Given the description of an element on the screen output the (x, y) to click on. 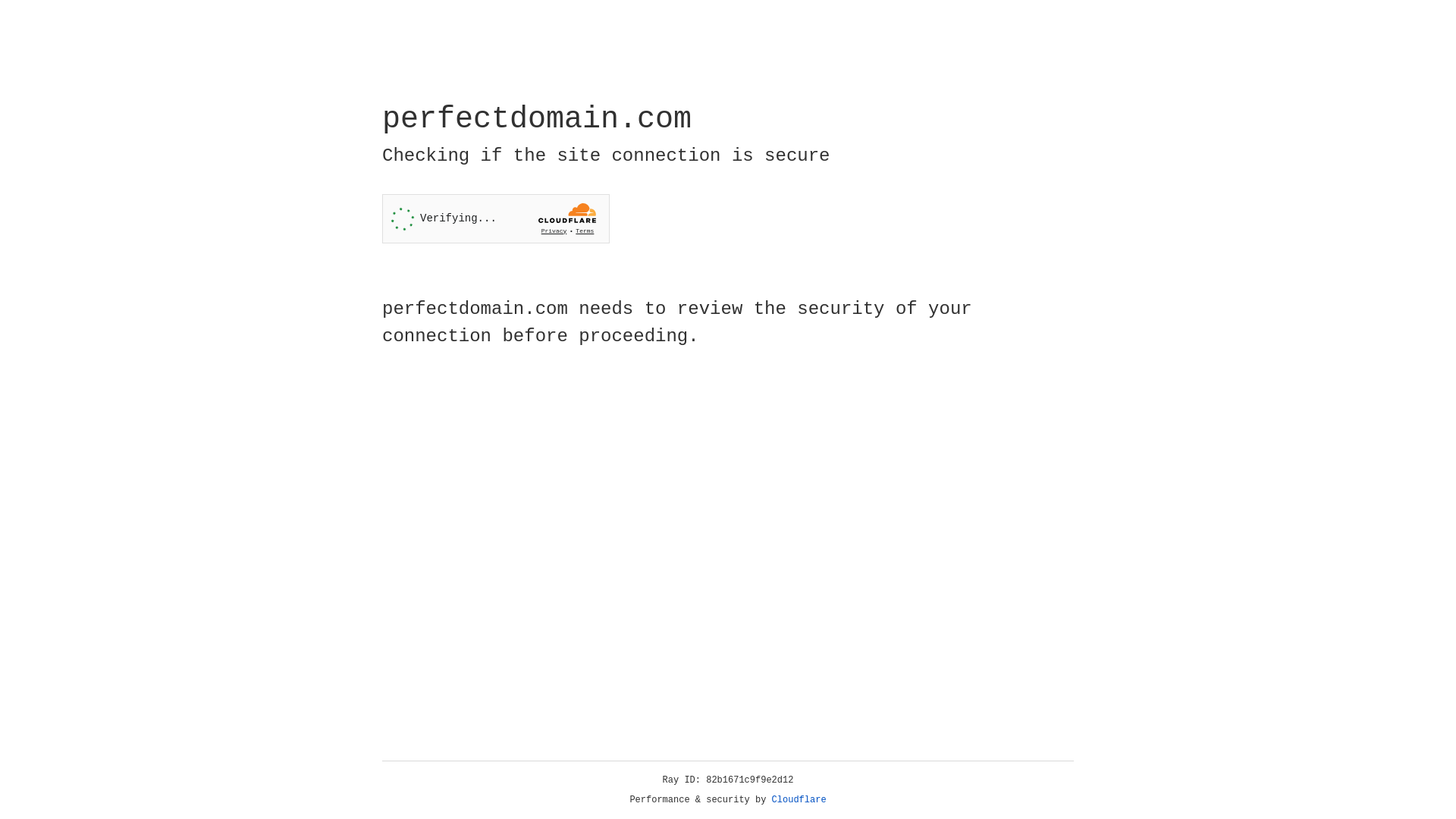
Cloudflare Element type: text (798, 799)
Widget containing a Cloudflare security challenge Element type: hover (495, 218)
